Given the description of an element on the screen output the (x, y) to click on. 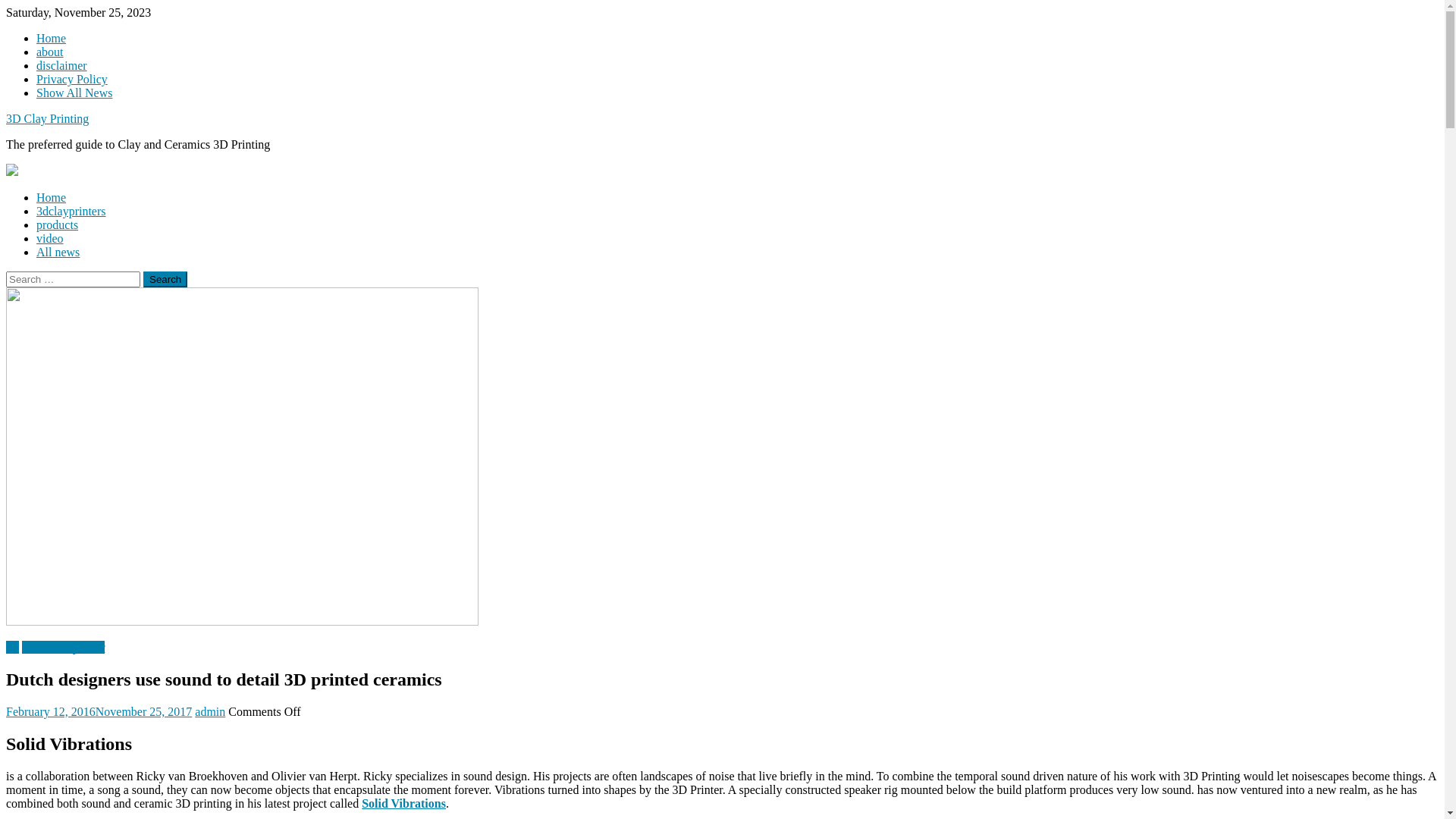
All news Element type: text (57, 251)
Skip to content Element type: text (5, 5)
art Element type: text (12, 646)
Show All News Element type: text (74, 92)
3D Clay Printing Element type: text (47, 118)
DIY delta printer Element type: text (63, 646)
Home Element type: text (50, 197)
products Element type: text (57, 224)
admin Element type: text (209, 711)
February 12, 2016November 25, 2017 Element type: text (98, 711)
Home Element type: text (50, 37)
3dclayprinters Element type: text (71, 210)
Solid Vibrations Element type: text (403, 803)
video Element type: text (49, 238)
disclaimer Element type: text (61, 65)
about Element type: text (49, 51)
Privacy Policy Element type: text (71, 78)
Search Element type: text (165, 279)
